Given the description of an element on the screen output the (x, y) to click on. 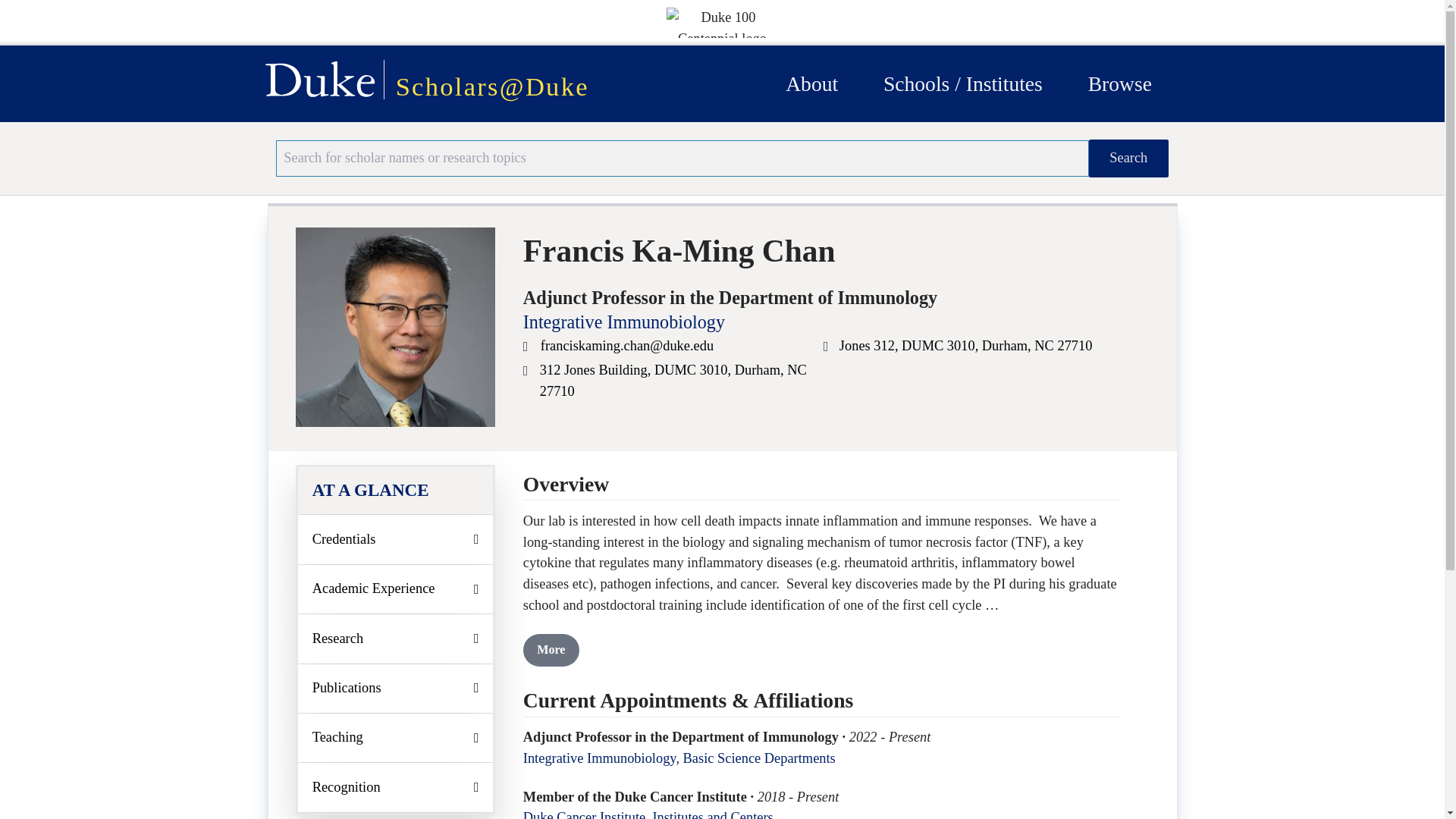
Credentials (395, 539)
Teaching (395, 737)
Search (1129, 158)
Publications (395, 688)
Academic Experience (395, 589)
Recognition (395, 786)
Research (395, 638)
About (812, 83)
Browse (1119, 83)
Search (1129, 158)
Search (1129, 158)
Integrative Immunobiology (623, 322)
AT A GLANCE (395, 490)
